Given the description of an element on the screen output the (x, y) to click on. 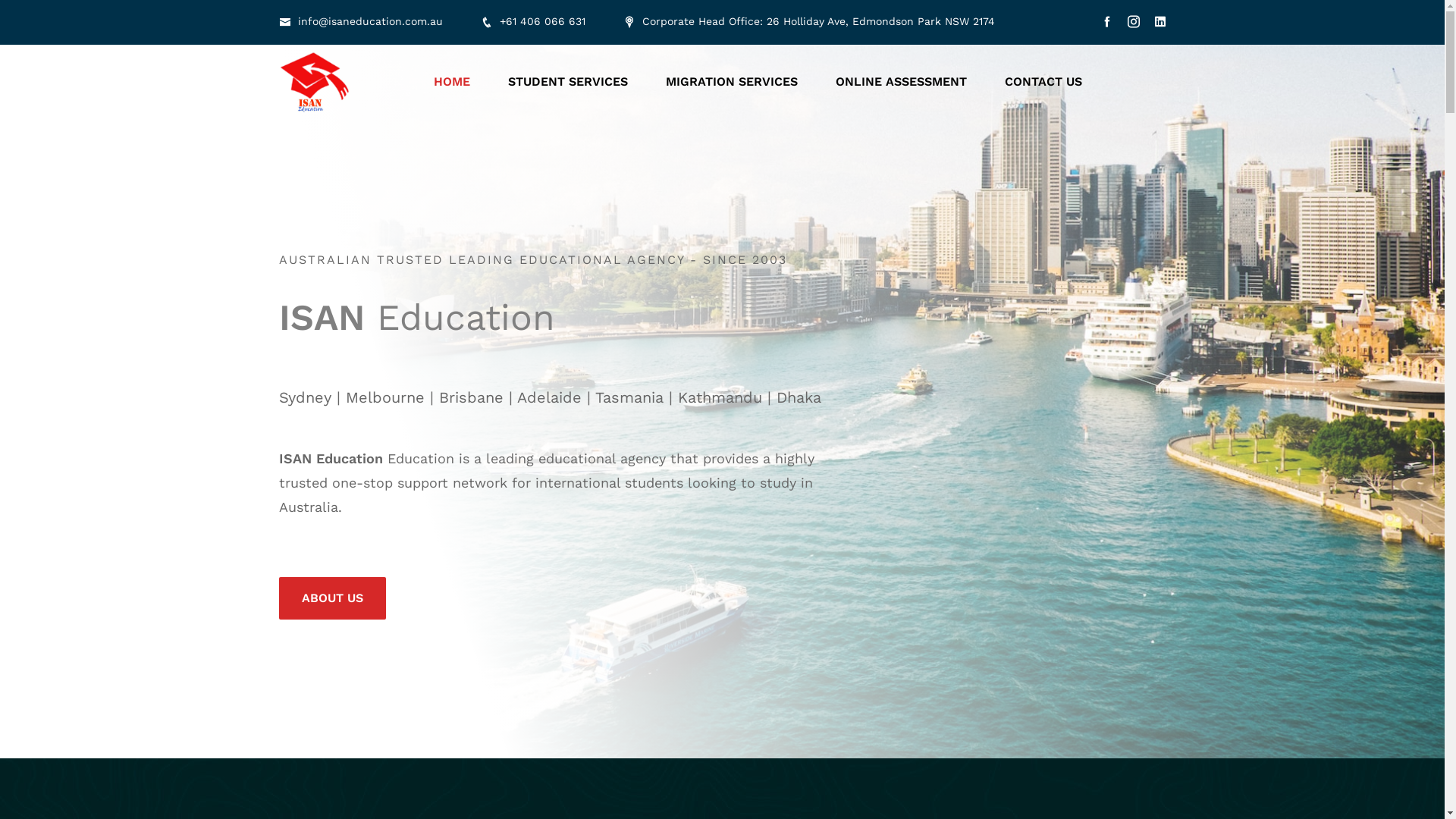
MIGRATION SERVICES Element type: text (731, 81)
ONLINE ASSESSMENT Element type: text (900, 81)
info@isaneducation.com.au Element type: text (360, 21)
STUDENT SERVICES Element type: text (567, 81)
CONTACT US Element type: text (1043, 81)
HOME Element type: text (451, 81)
ABOUT US Element type: text (332, 598)
+61 406 066 631 Element type: text (532, 21)
